Given the description of an element on the screen output the (x, y) to click on. 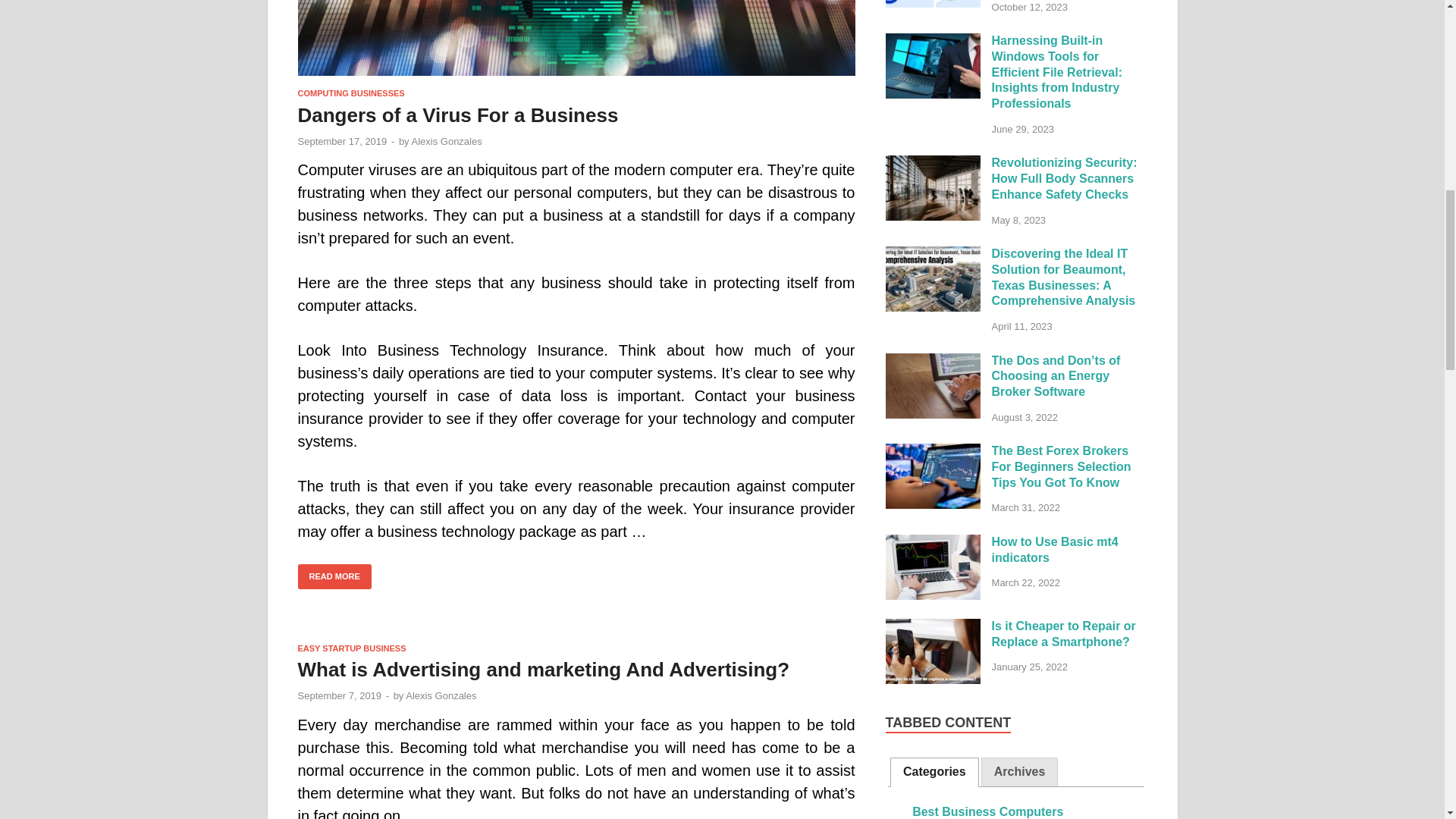
Is it Cheaper to Repair or Replace a Smartphone? (932, 626)
Dangers of a Virus For a Business (575, 44)
How to Use Basic mt4 indicators (932, 543)
